Given the description of an element on the screen output the (x, y) to click on. 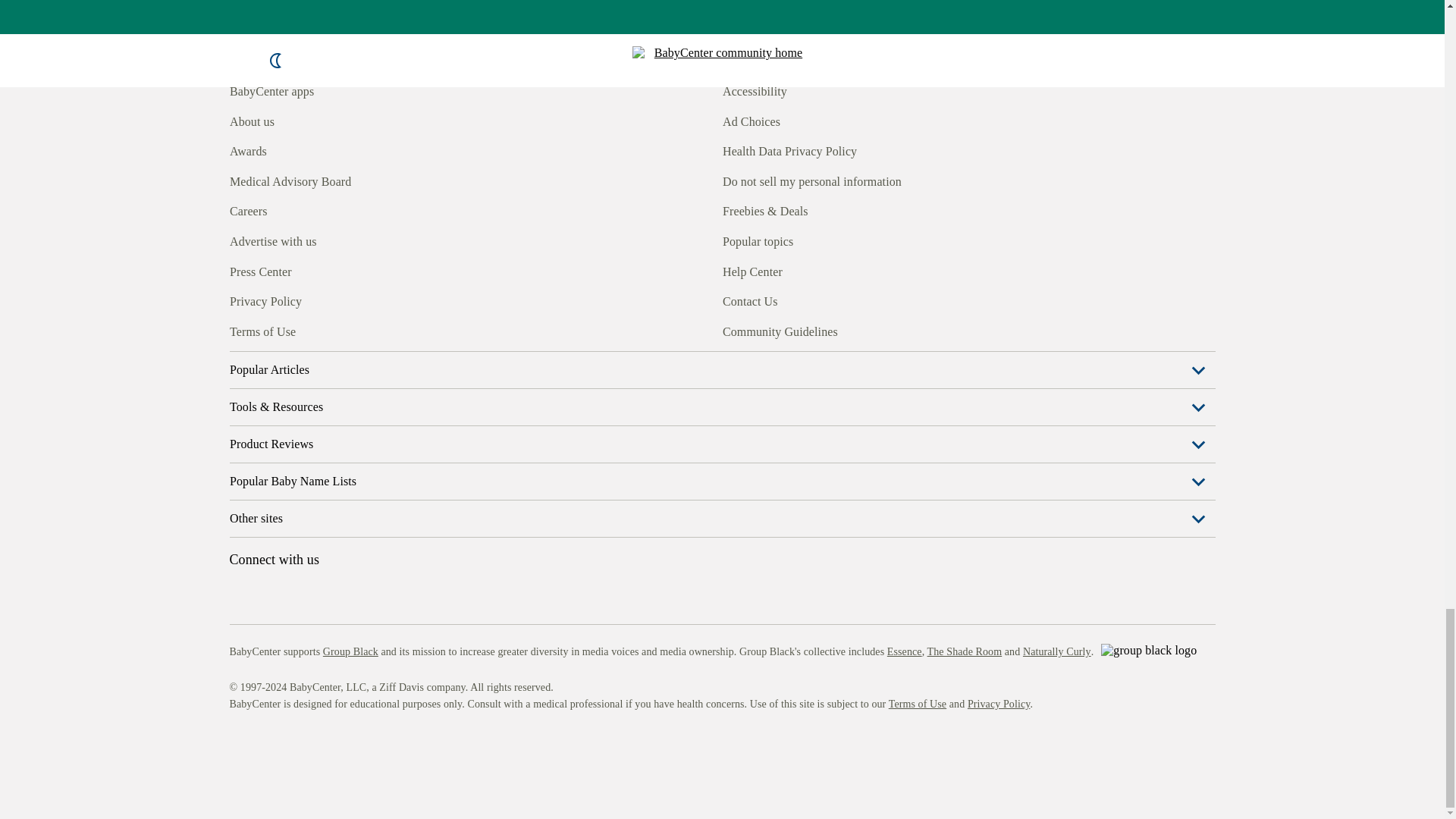
BabyCenter YouTube channel (344, 329)
BabyCenter Pinterest board (309, 329)
BabyCenter Facebook page (239, 329)
BabyCenter Twitter feed (379, 329)
BabyCenter Instagram feed (274, 329)
